Given the description of an element on the screen output the (x, y) to click on. 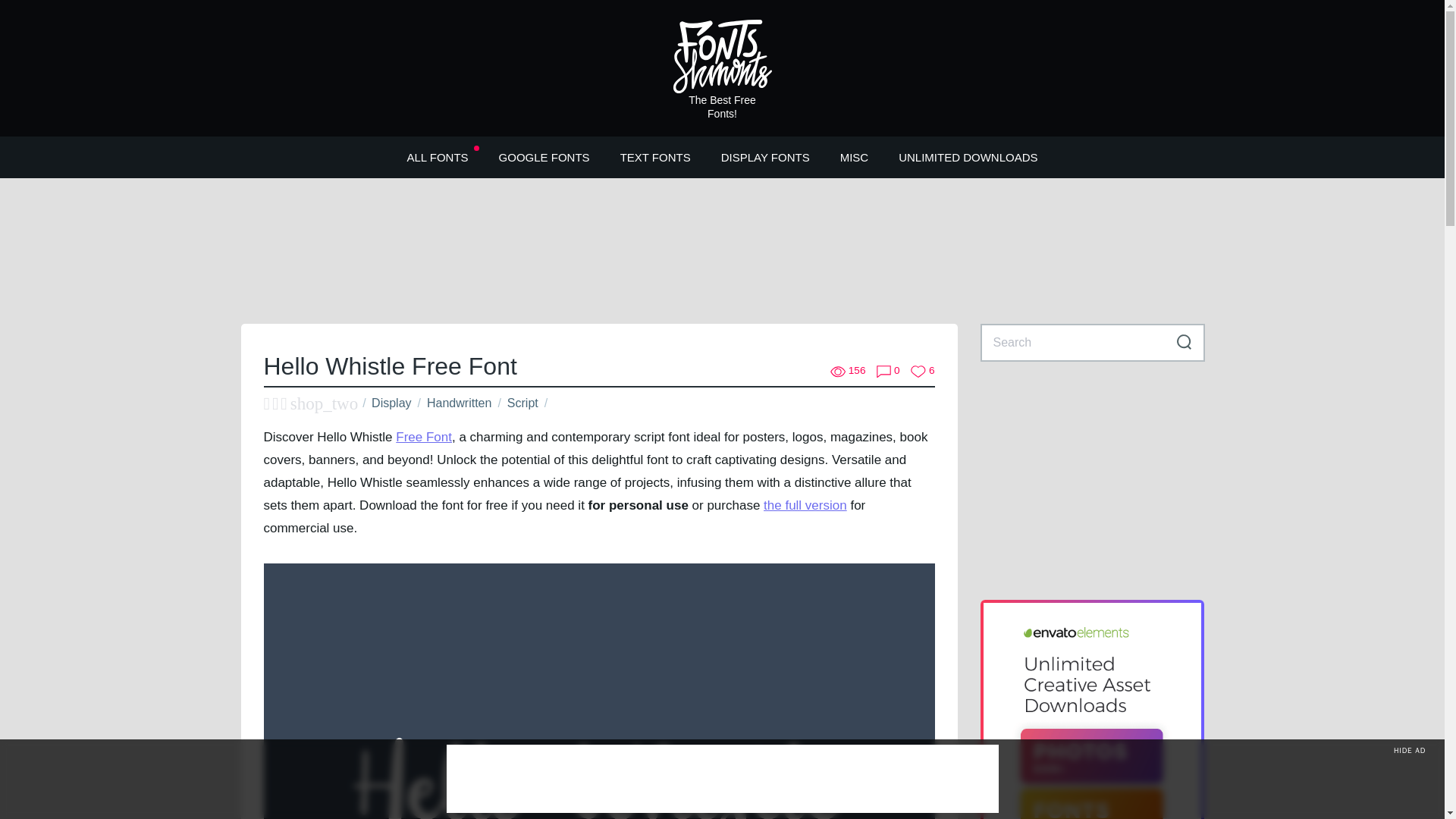
MISC (854, 156)
GOOGLE FONTS (544, 156)
UNLIMITED DOWNLOADS (967, 156)
156 (847, 370)
6 (922, 370)
DISPLAY FONTS (765, 156)
Script (522, 402)
Text Fonts (655, 156)
All Fonts (437, 156)
Display Fonts (765, 156)
